Given the description of an element on the screen output the (x, y) to click on. 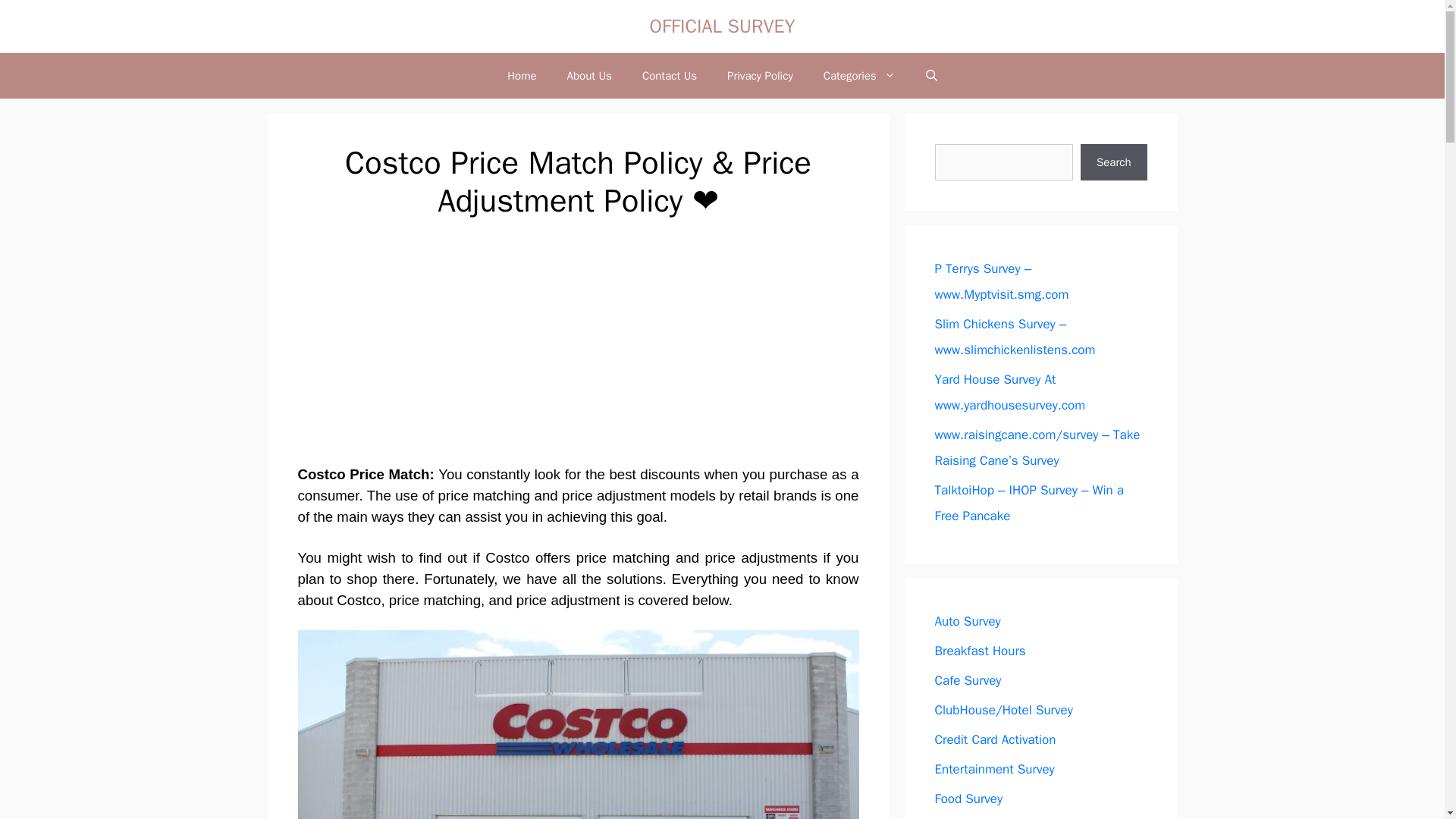
Breakfast Hours (979, 650)
Search (1113, 162)
Privacy Policy (759, 75)
Contact Us (669, 75)
OFFICIAL SURVEY (721, 25)
Categories (859, 75)
Home (521, 75)
About Us (589, 75)
Auto Survey (967, 620)
Yard House Survey At www.yardhousesurvey.com (1009, 392)
